Given the description of an element on the screen output the (x, y) to click on. 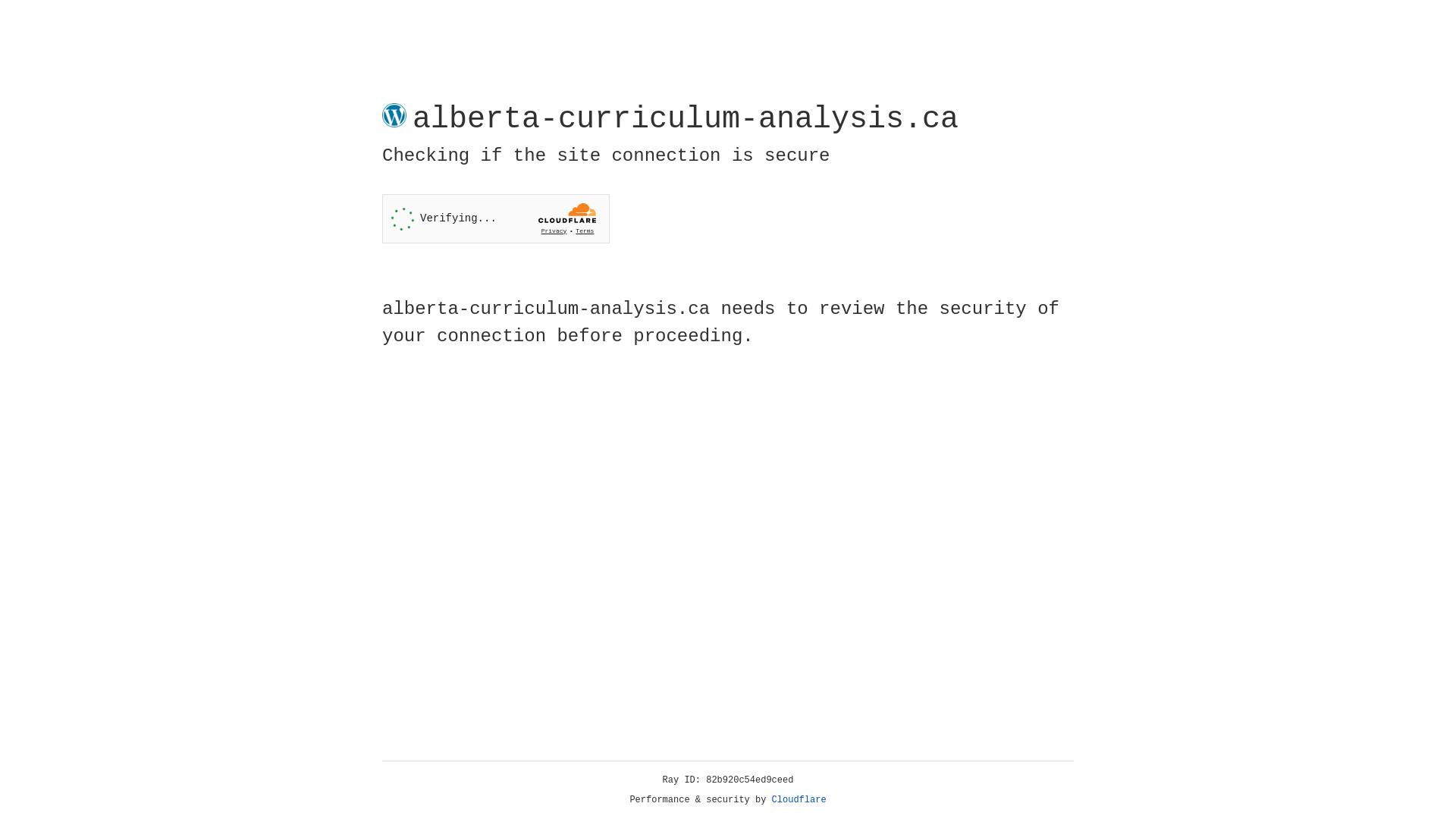
Cloudflare Element type: text (798, 799)
Widget containing a Cloudflare security challenge Element type: hover (495, 218)
